Given the description of an element on the screen output the (x, y) to click on. 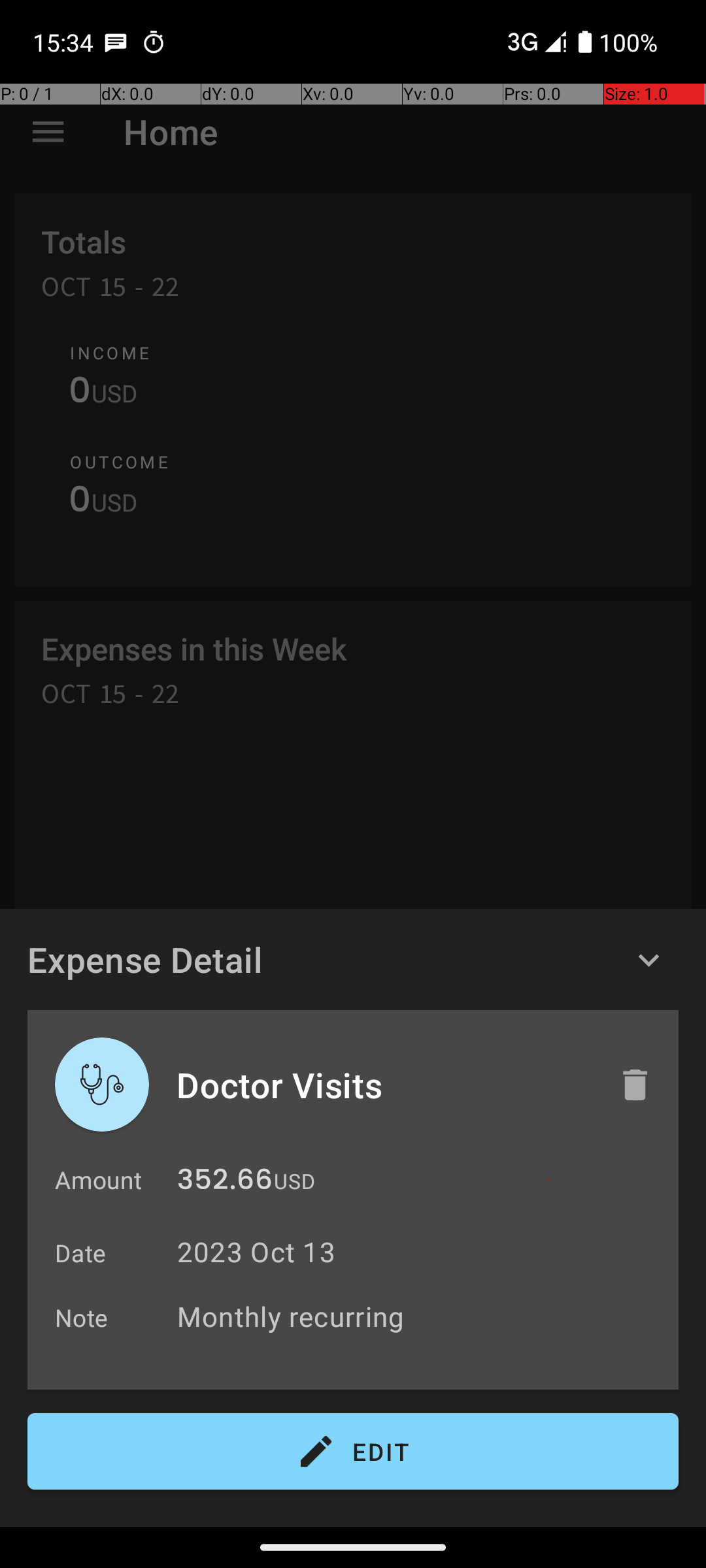
352.66 Element type: android.widget.TextView (224, 1182)
